Given the description of an element on the screen output the (x, y) to click on. 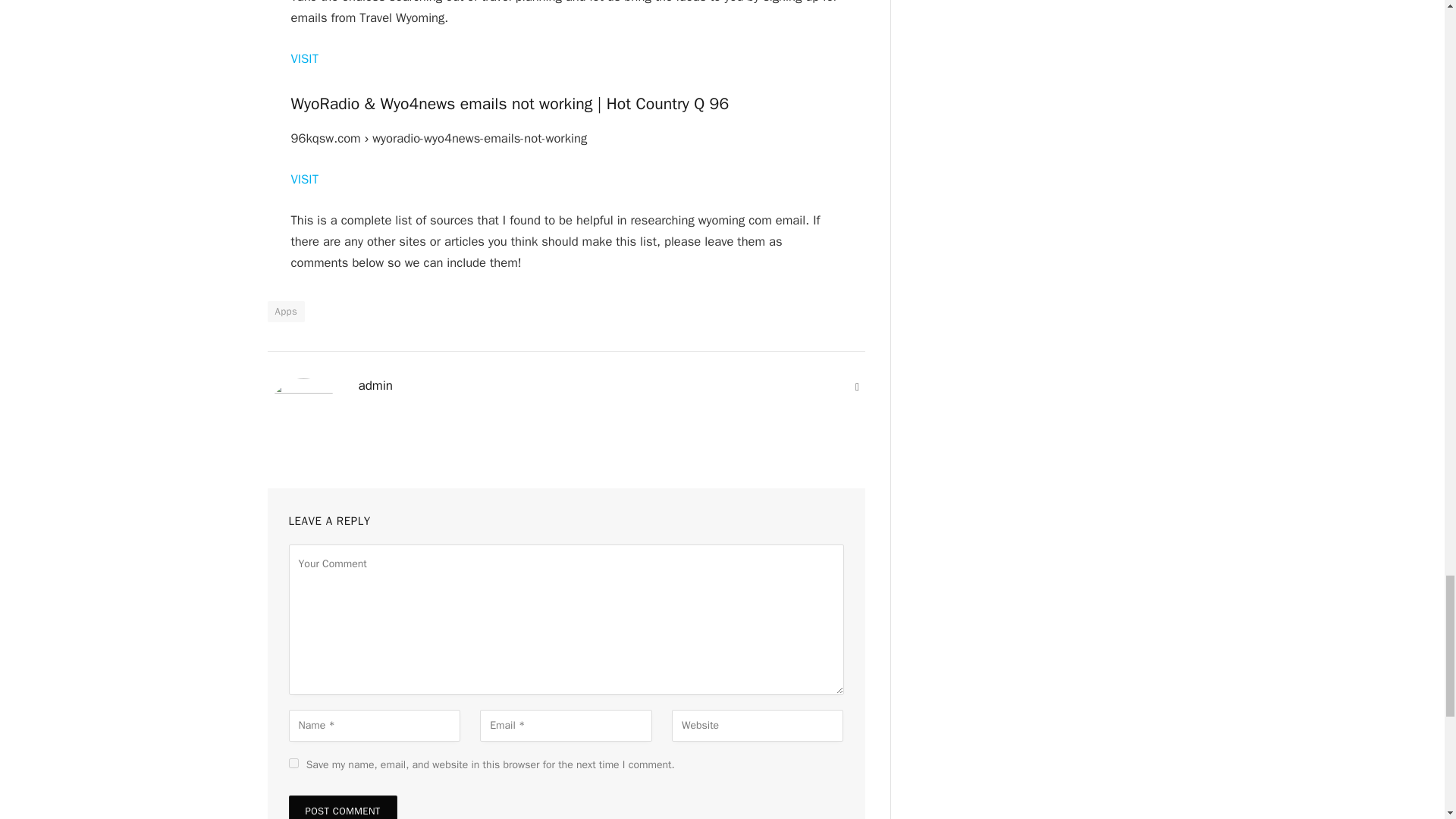
Posts by admin (375, 385)
yes (293, 763)
Website (856, 387)
Post Comment (342, 807)
